Given the description of an element on the screen output the (x, y) to click on. 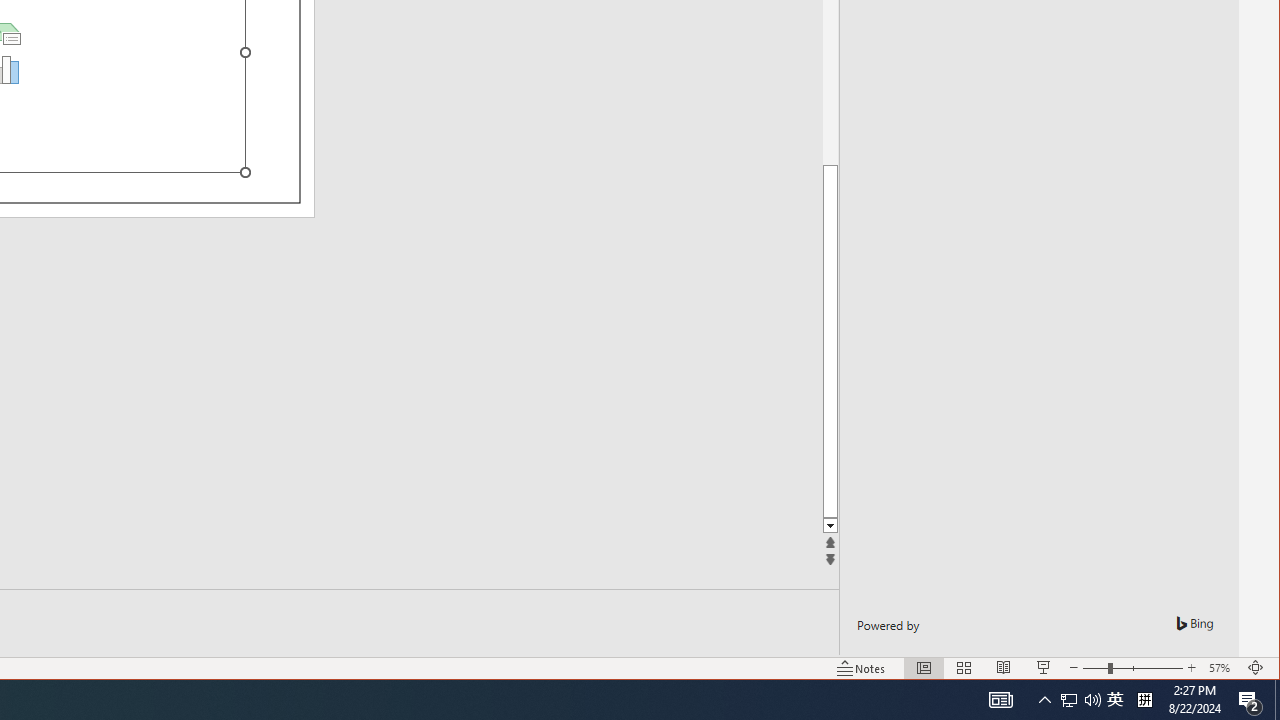
Zoom 57% (1222, 668)
